Given the description of an element on the screen output the (x, y) to click on. 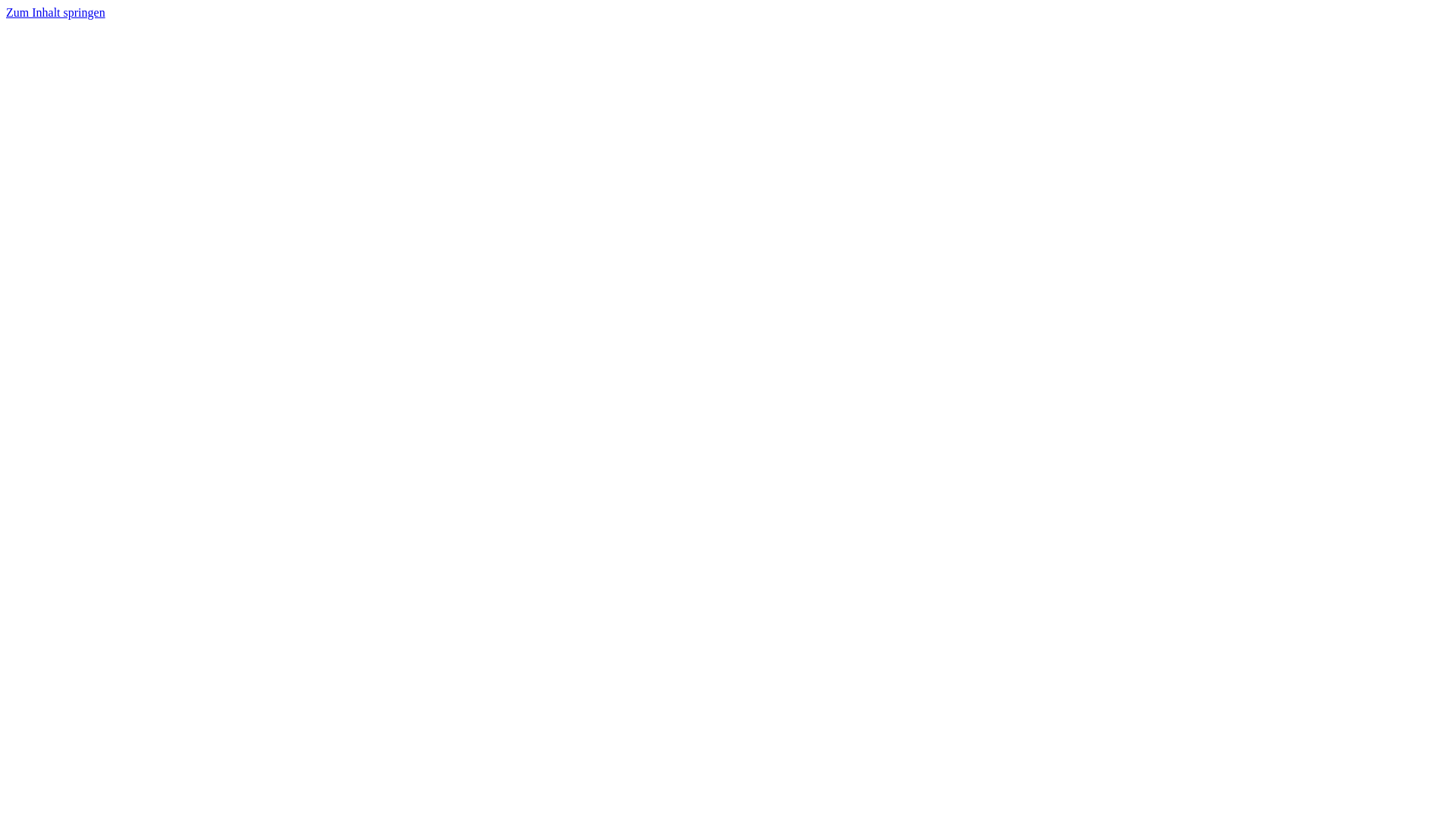
Zum Inhalt springen Element type: text (55, 12)
